Given the description of an element on the screen output the (x, y) to click on. 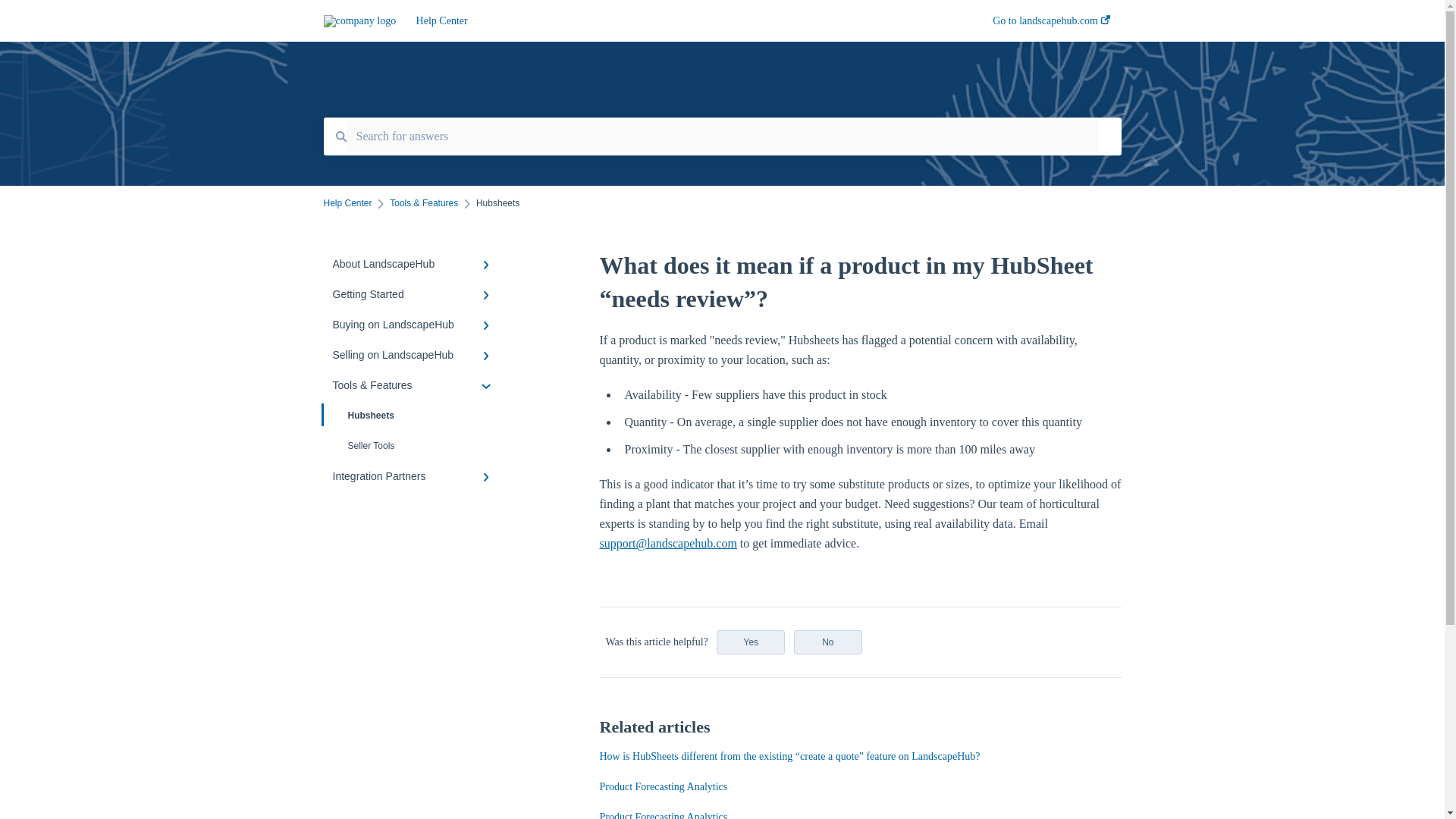
About LandscapeHub (414, 263)
Go to landscapehub.com (1050, 25)
Help Center (681, 21)
Help Center (347, 203)
